Given the description of an element on the screen output the (x, y) to click on. 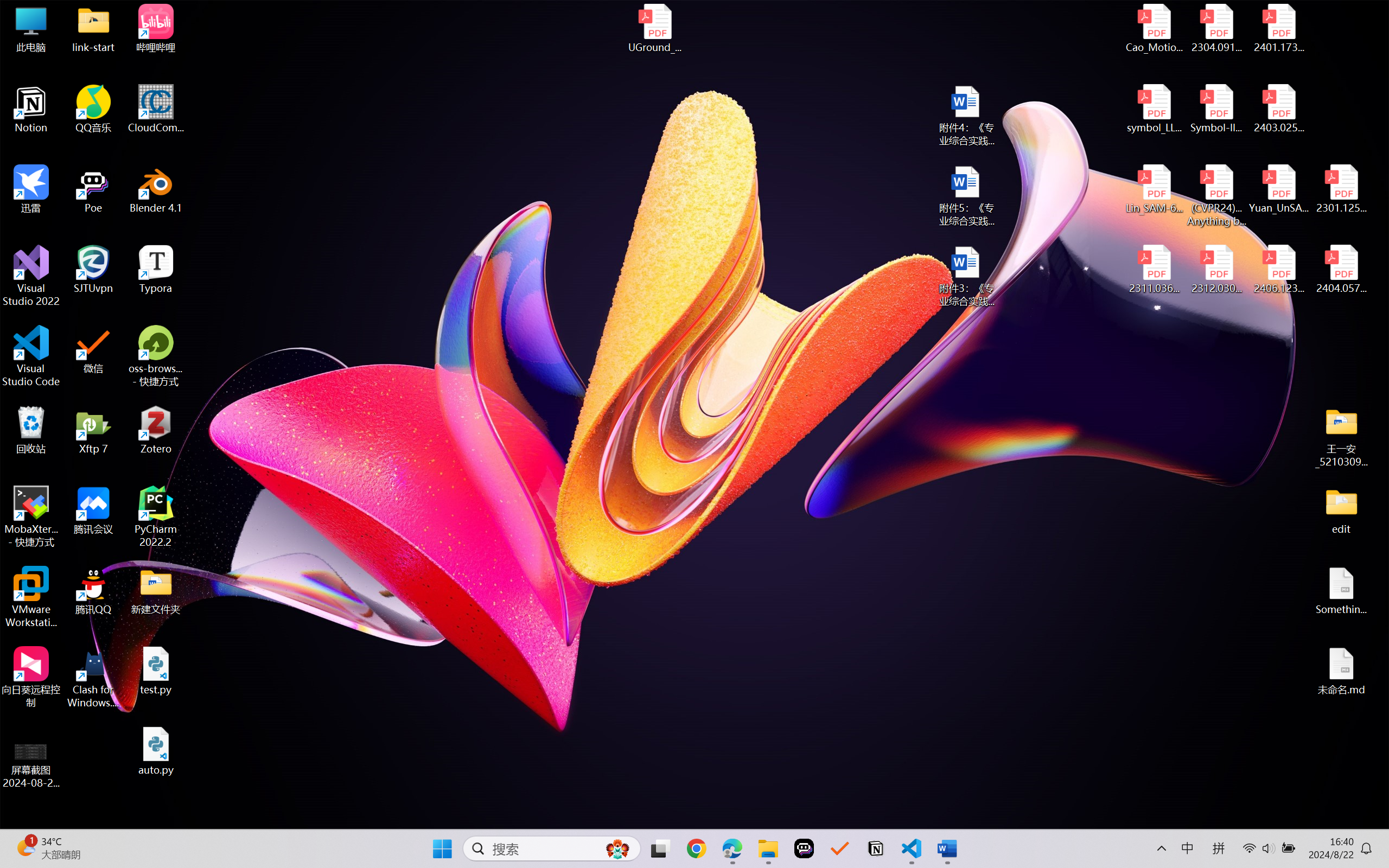
test.py (156, 670)
Xftp 7 (93, 430)
2311.03658v2.pdf (1154, 269)
PyCharm 2022.2 (156, 516)
SJTUvpn (93, 269)
Notion (31, 109)
